Given the description of an element on the screen output the (x, y) to click on. 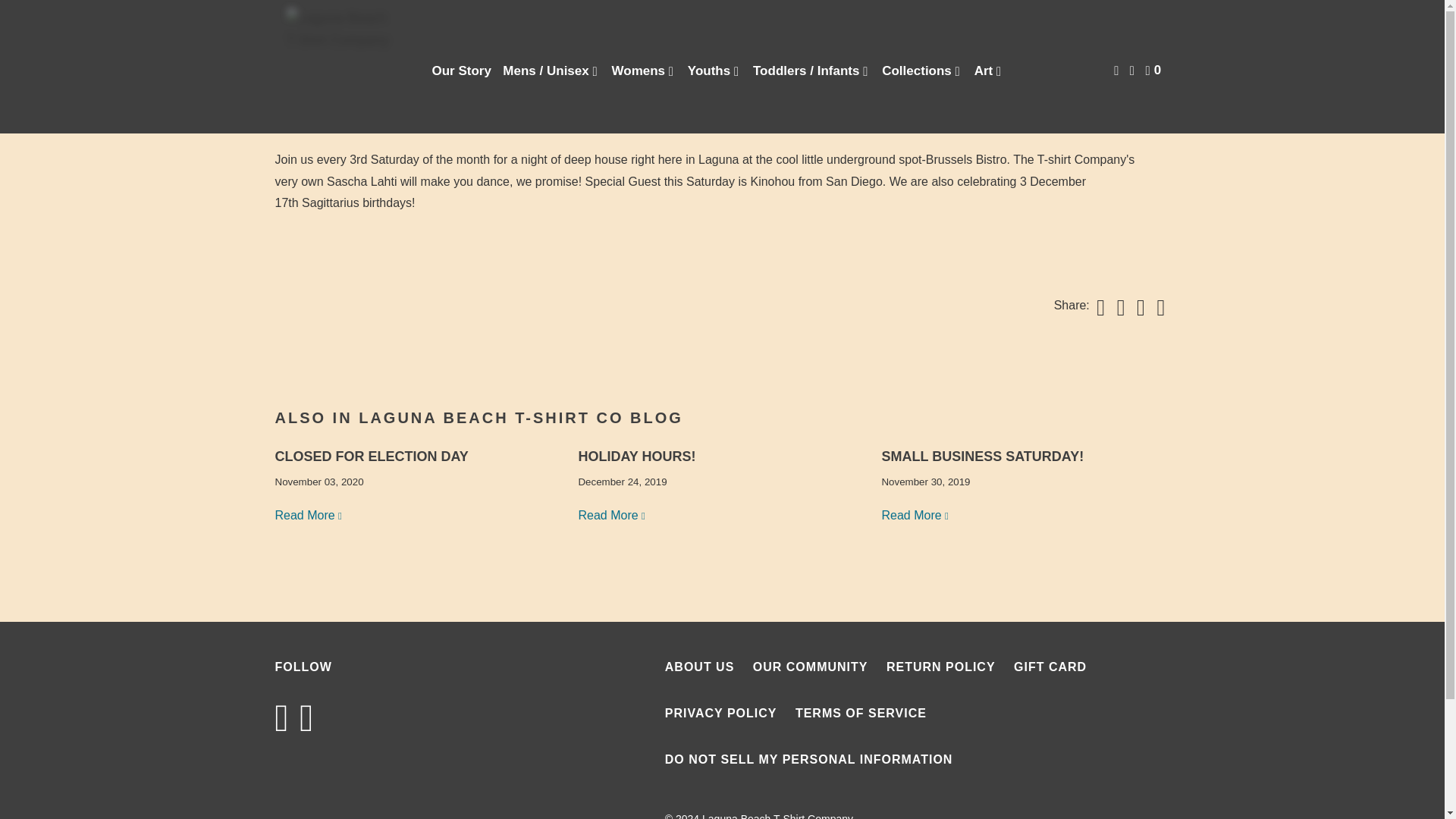
Laguna Beach T-Shirt Company (342, 66)
Our Story (462, 70)
Closed for Election Day (309, 514)
Small Business Saturday! (915, 514)
Holiday hours! (636, 456)
Closed for Election Day (371, 456)
Small Business Saturday! (981, 456)
Holiday hours! (612, 514)
